Given the description of an element on the screen output the (x, y) to click on. 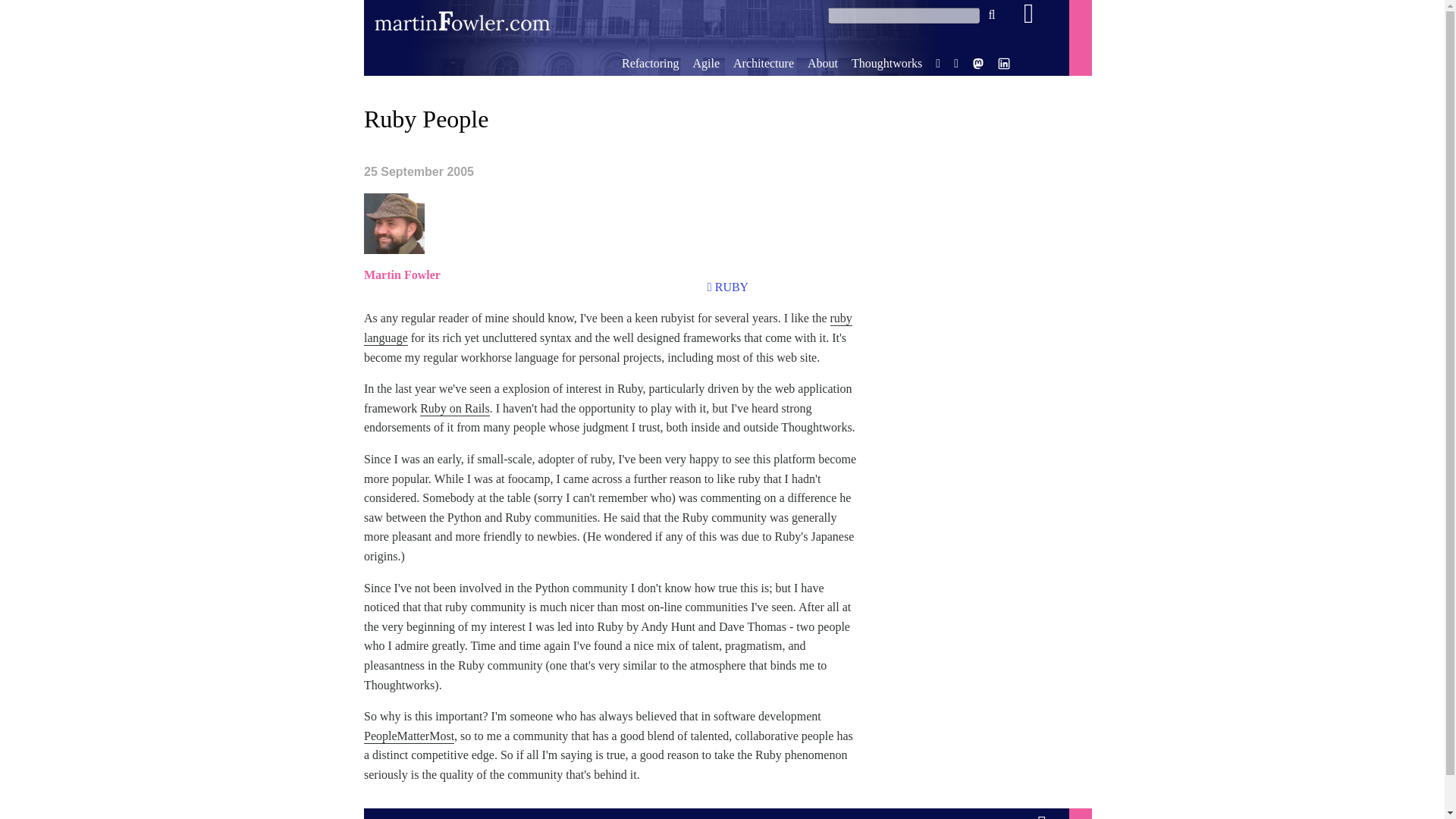
Refactoring (650, 62)
RUBY (731, 286)
Martin Fowler (402, 274)
Ruby People (425, 118)
About (823, 62)
Thoughtworks (886, 62)
Search (991, 14)
Mastodon stream (978, 65)
LinkedIn (1003, 65)
Architecture (763, 62)
Photo of Martin Fowler (394, 223)
Agile (706, 62)
